Given the description of an element on the screen output the (x, y) to click on. 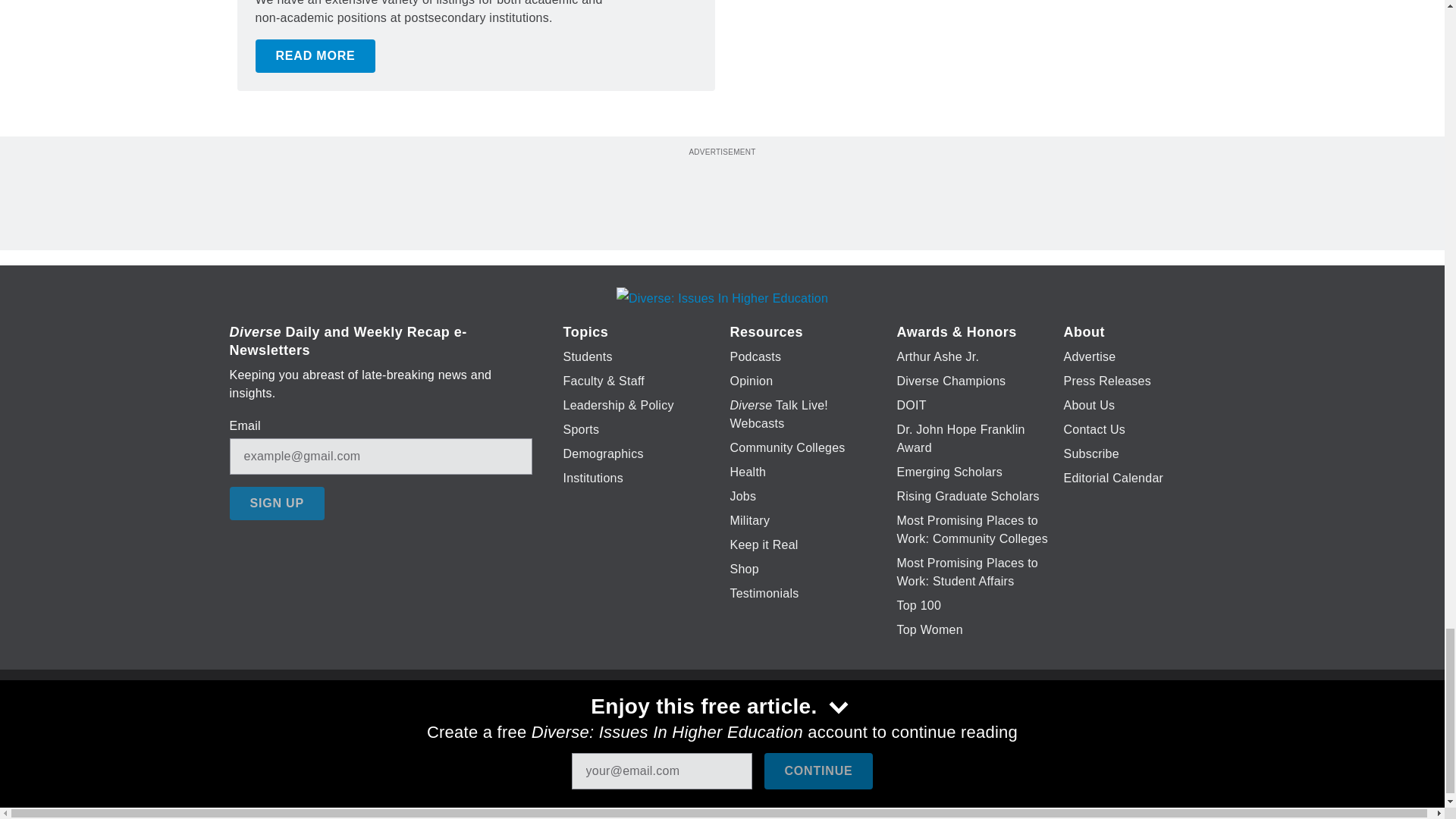
YouTube icon (757, 727)
Twitter X icon (674, 727)
LinkedIn icon (718, 727)
Instagram icon (796, 727)
Facebook icon (635, 727)
